Given the description of an element on the screen output the (x, y) to click on. 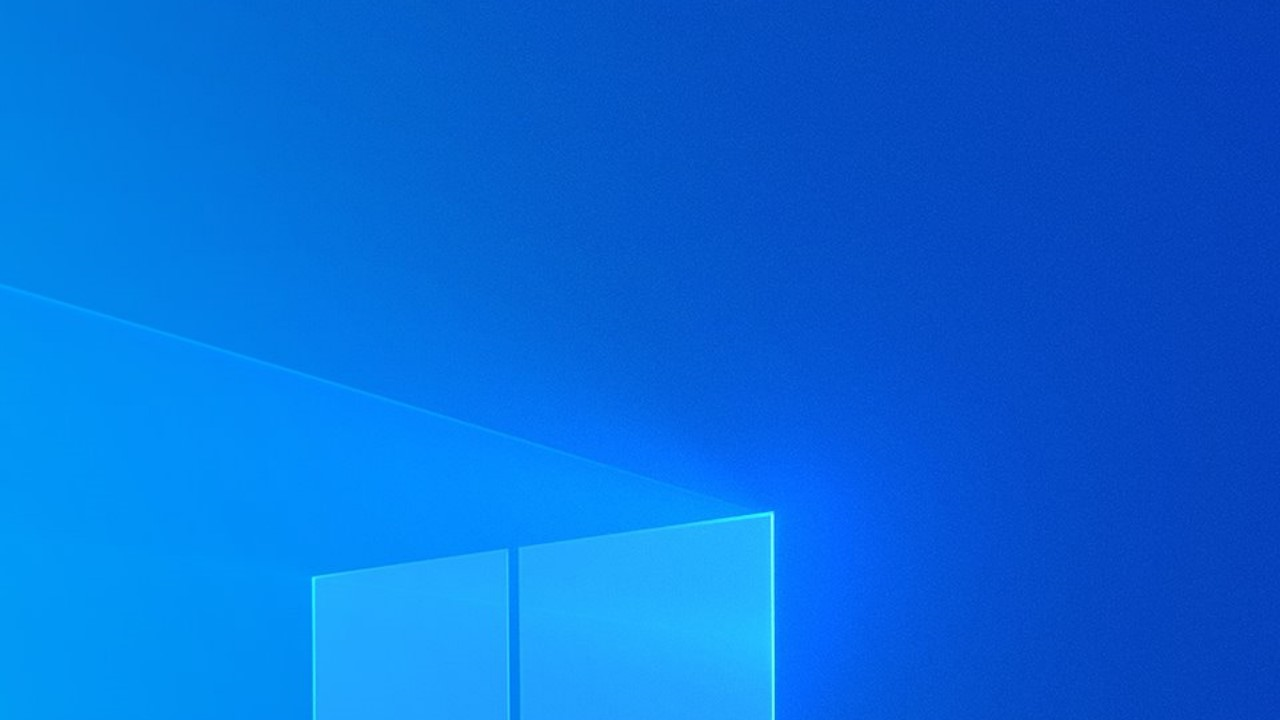
Search job log (818, 143)
Show full screen (1172, 143)
Scroll to next failure (1055, 143)
Show complete raw (1015, 143)
